Given the description of an element on the screen output the (x, y) to click on. 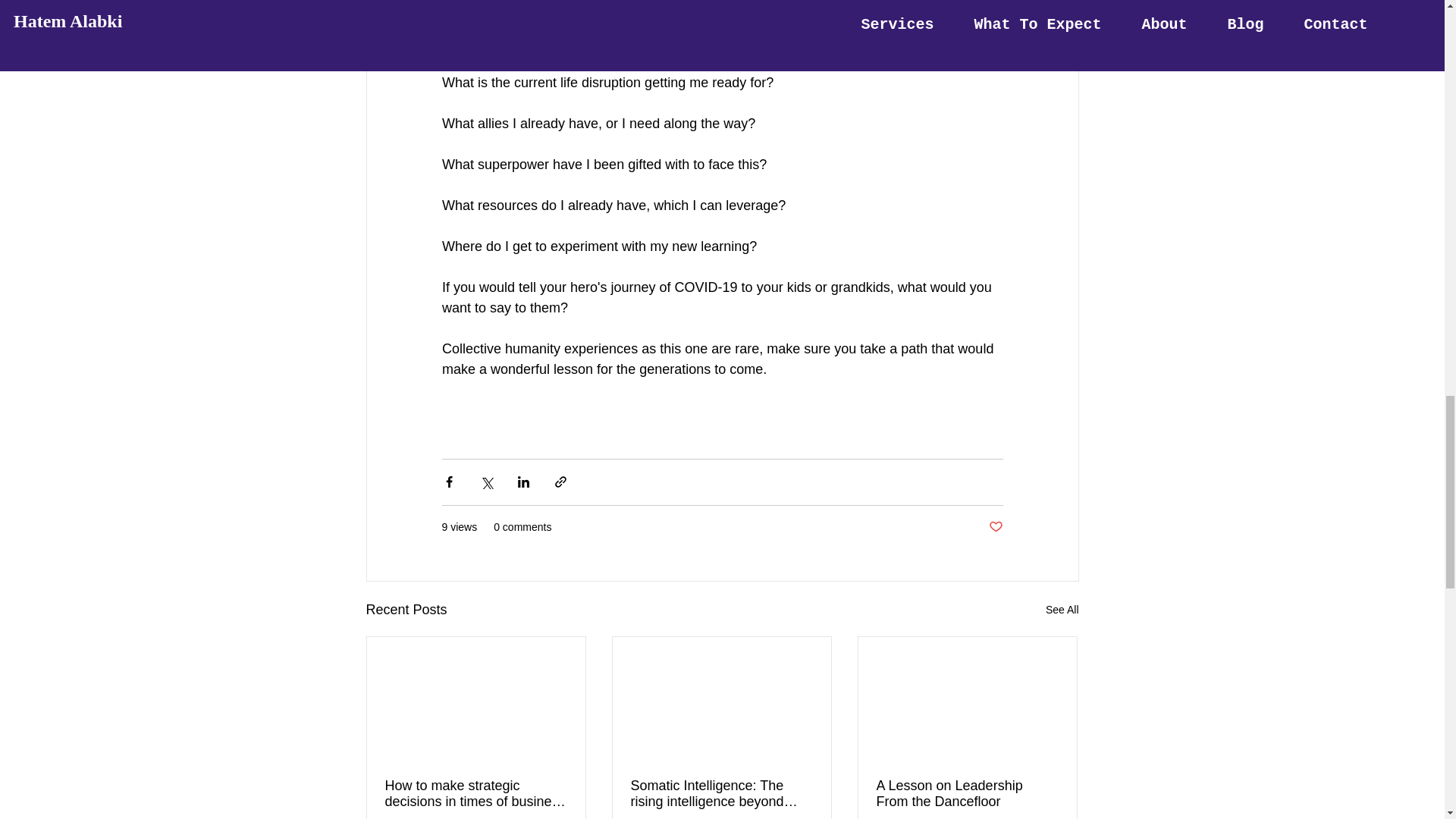
Post not marked as liked (995, 527)
See All (1061, 609)
A Lesson on Leadership From the Dancefloor (967, 793)
